Given the description of an element on the screen output the (x, y) to click on. 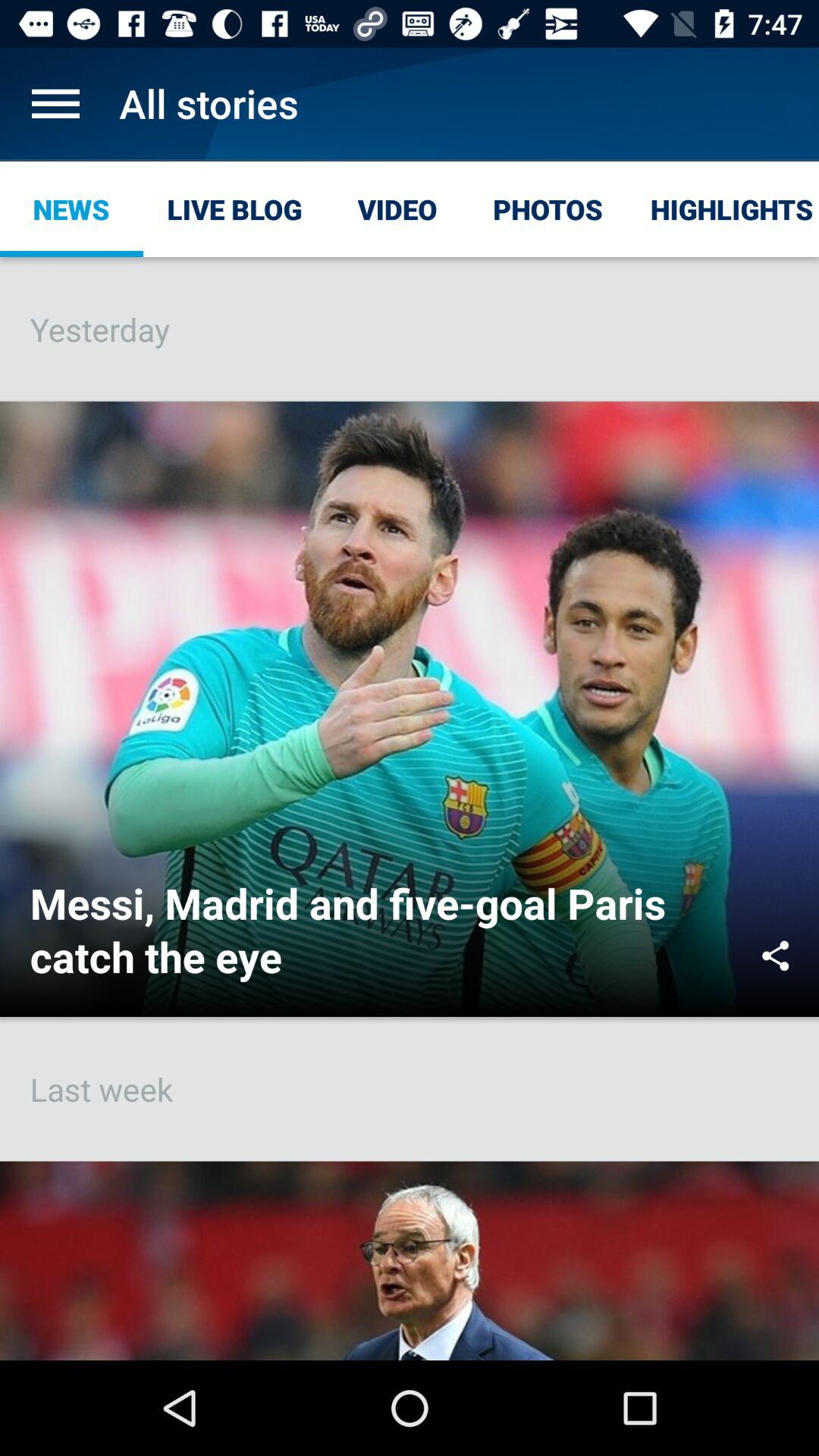
click item on the right (775, 955)
